Given the description of an element on the screen output the (x, y) to click on. 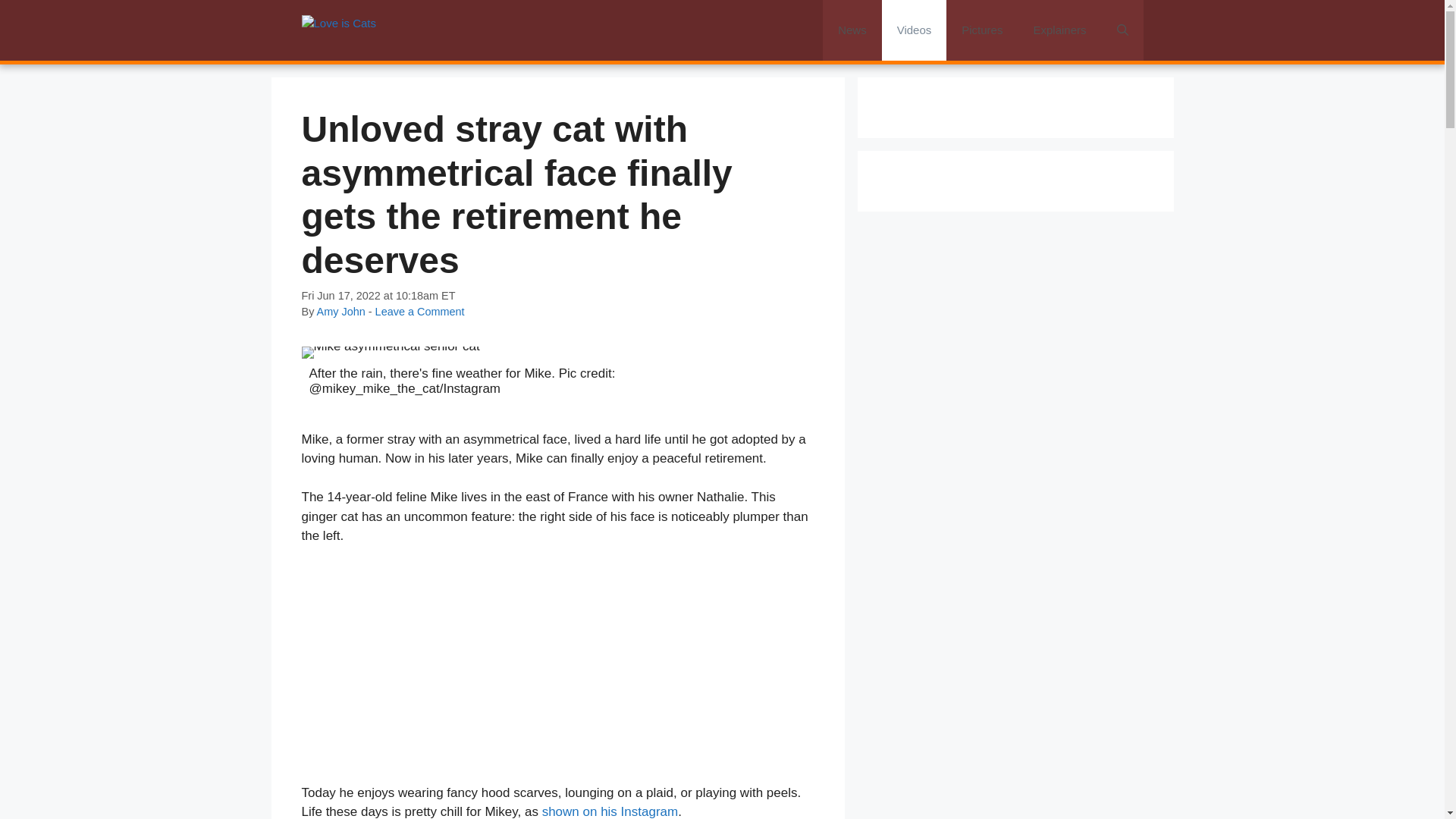
Pictures (981, 30)
News (852, 30)
Videos (914, 30)
Leave a Comment (419, 311)
Amy John (341, 311)
Explainers (1058, 30)
shown on his Instagram (609, 811)
Love is Cats (339, 30)
View all posts by Amy John (341, 311)
